Given the description of an element on the screen output the (x, y) to click on. 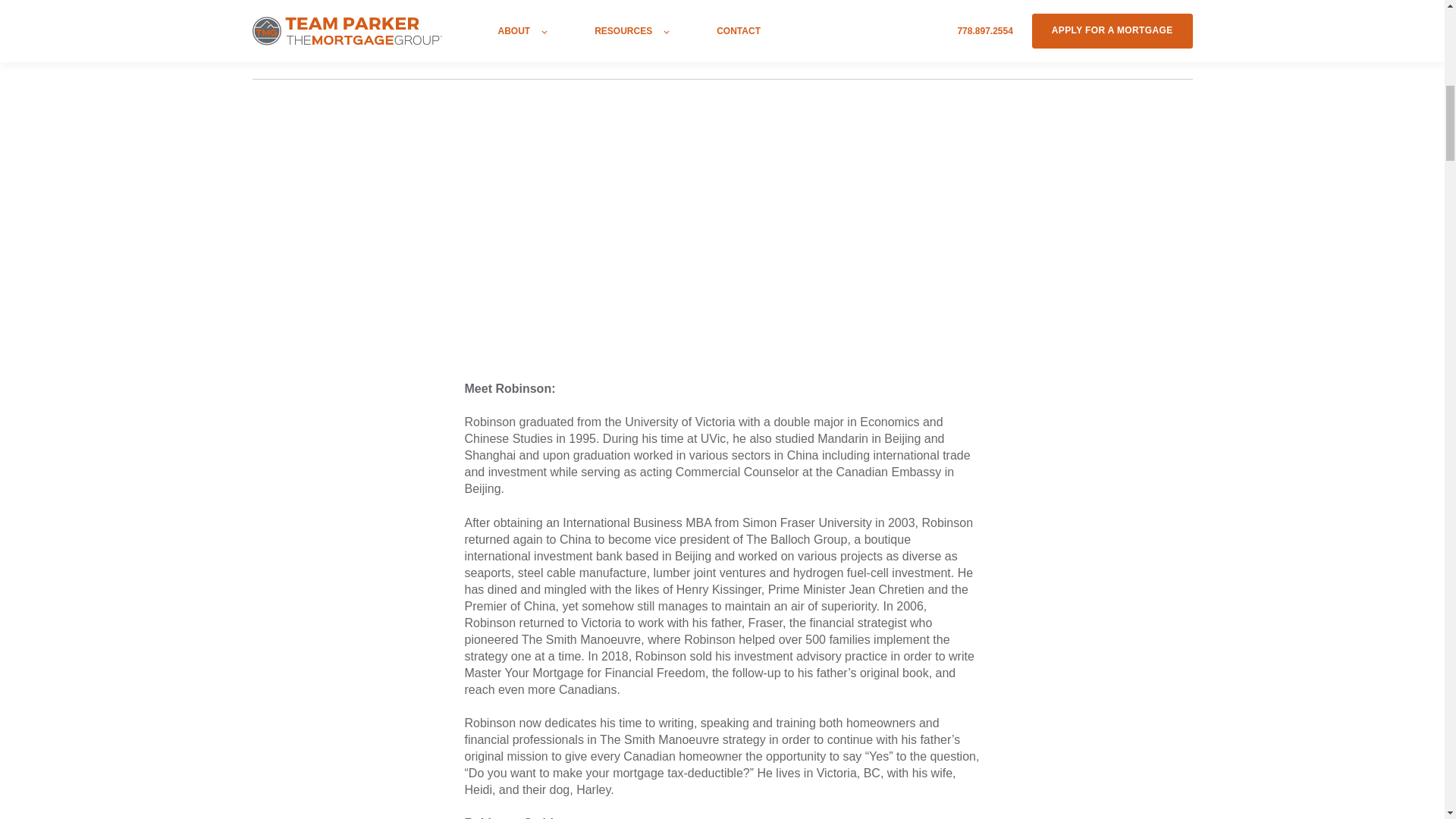
Matthew Parker (293, 5)
YouTube video player (676, 237)
